Given the description of an element on the screen output the (x, y) to click on. 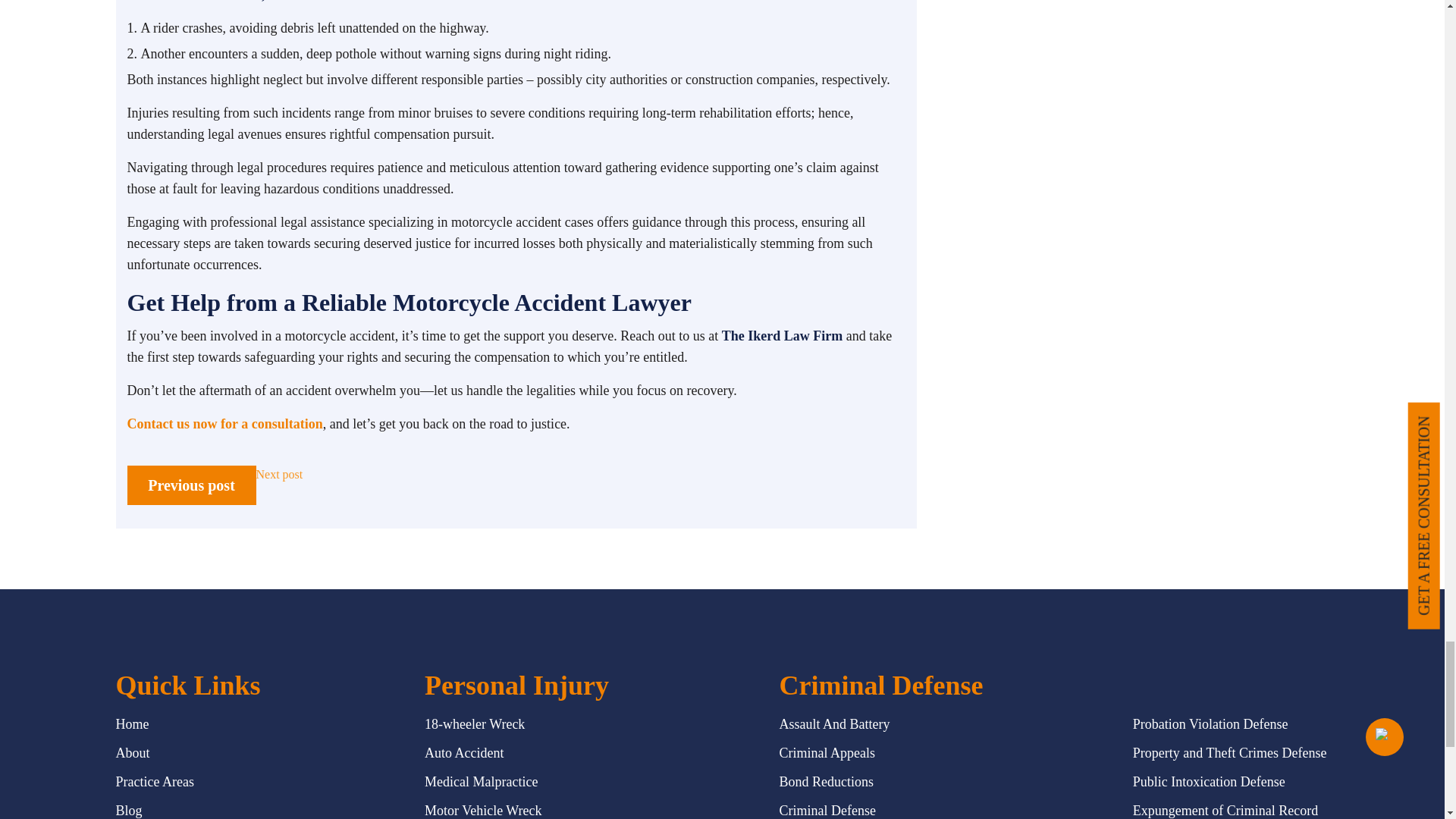
Contact us now for a consultation (225, 423)
